Given the description of an element on the screen output the (x, y) to click on. 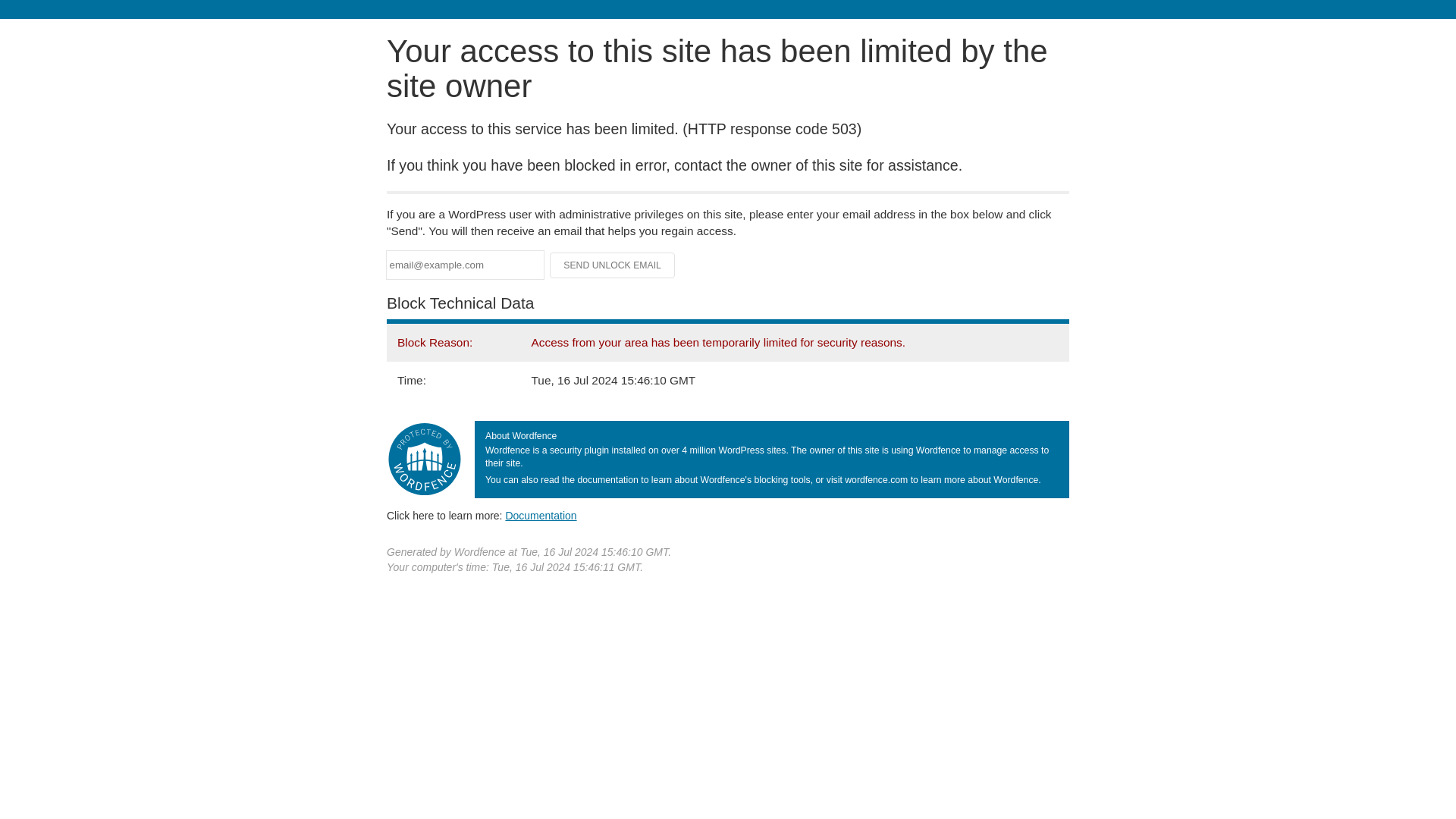
Documentation (540, 515)
Send Unlock Email (612, 265)
Send Unlock Email (612, 265)
